Given the description of an element on the screen output the (x, y) to click on. 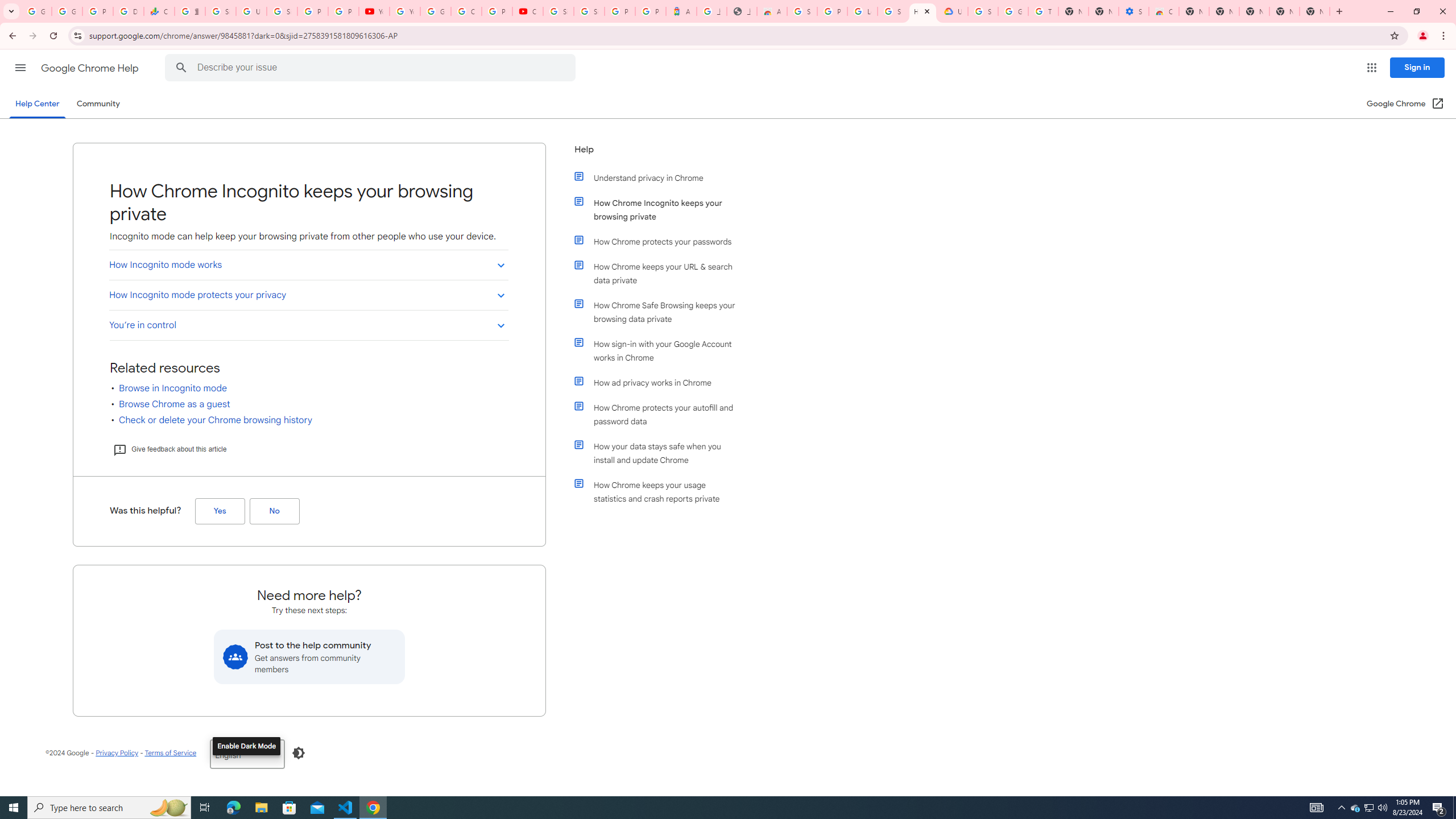
Google Chrome (Open in a new window) (1404, 103)
YouTube (373, 11)
New Tab (1193, 11)
Sign in - Google Accounts (892, 11)
How sign-in with your Google Account works in Chrome (661, 350)
Help Center (36, 103)
Sign in - Google Accounts (558, 11)
